Given the description of an element on the screen output the (x, y) to click on. 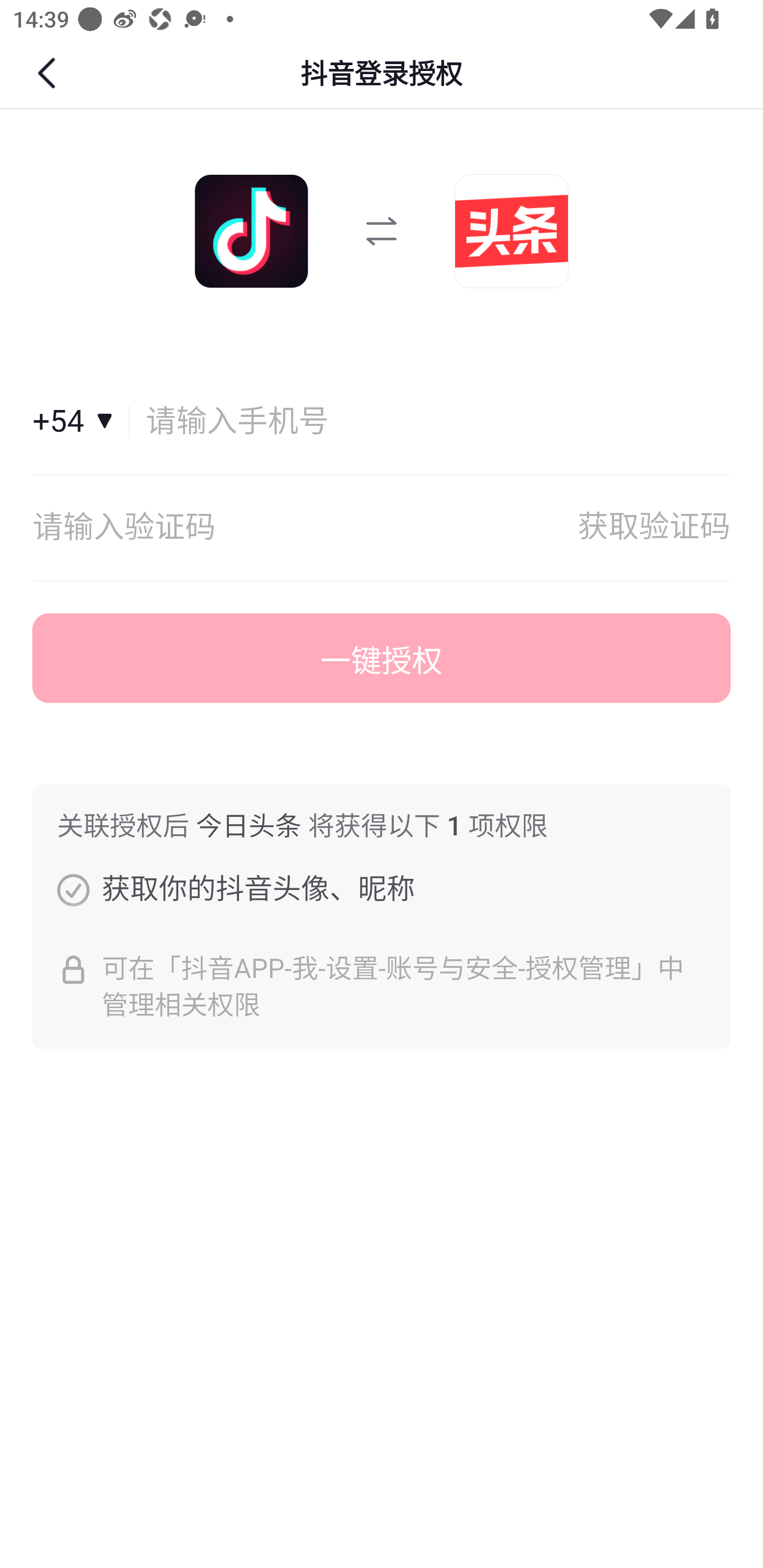
返回 (49, 72)
国家和地区+54 (81, 421)
获取验证码 (653, 527)
一键授权 (381, 658)
获取你的抖音头像、昵称 (72, 889)
